Given the description of an element on the screen output the (x, y) to click on. 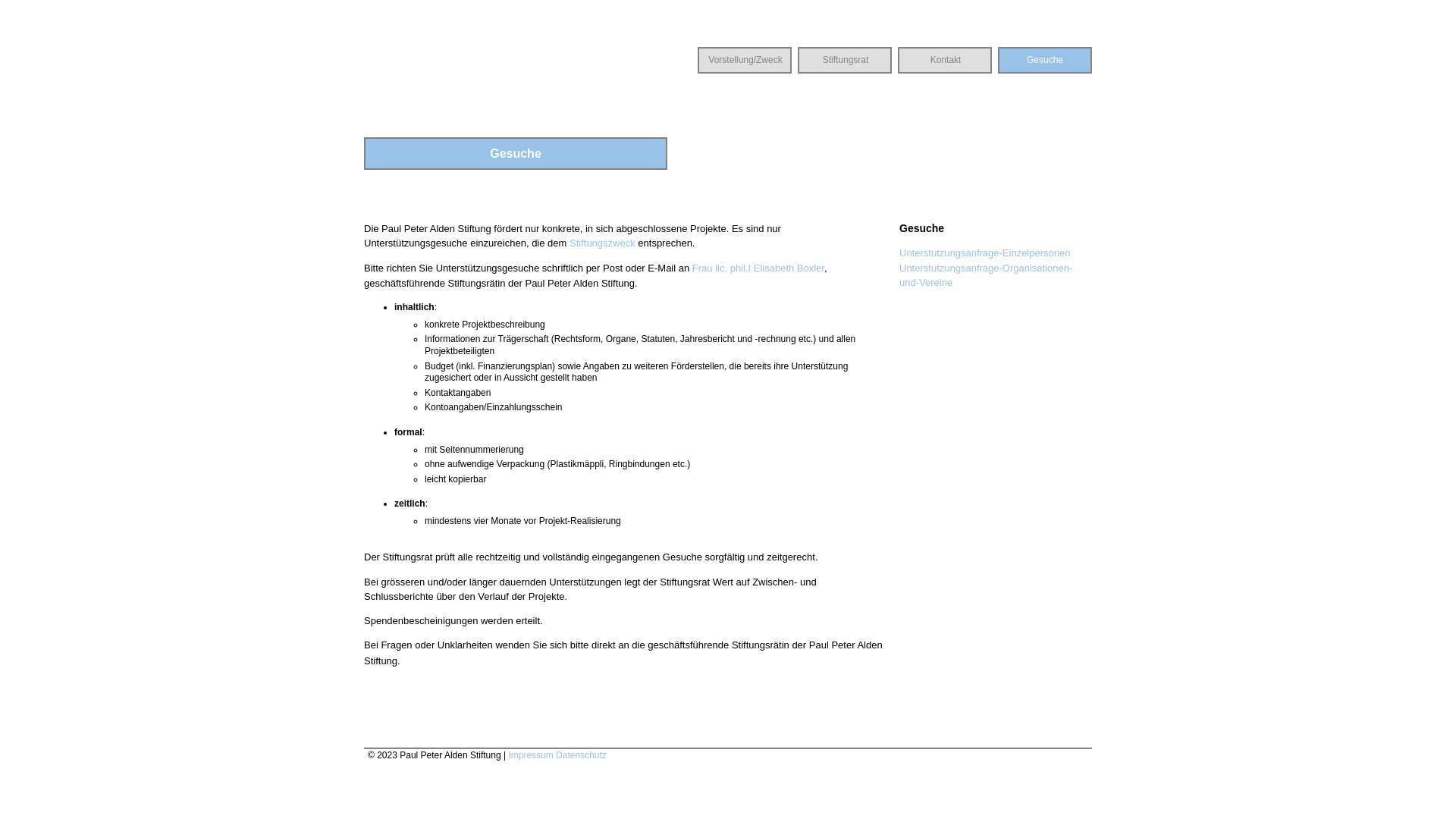
Stiftungsrat Element type: text (844, 60)
Stiftungszweck Element type: text (602, 242)
Frau lic. phil.I Elisabeth Boxler Element type: text (758, 267)
Vorstellung/Zweck Element type: text (744, 60)
Gesuche Element type: text (1044, 60)
Kontakt Element type: text (944, 60)
Impressum Element type: text (530, 754)
Unterstutzungsanfrage-Einzelpersonen Element type: text (984, 252)
Datenschutz Element type: text (580, 754)
Unterstutzungsanfrage-Organisationen-und-Vereine Element type: text (985, 275)
